Given the description of an element on the screen output the (x, y) to click on. 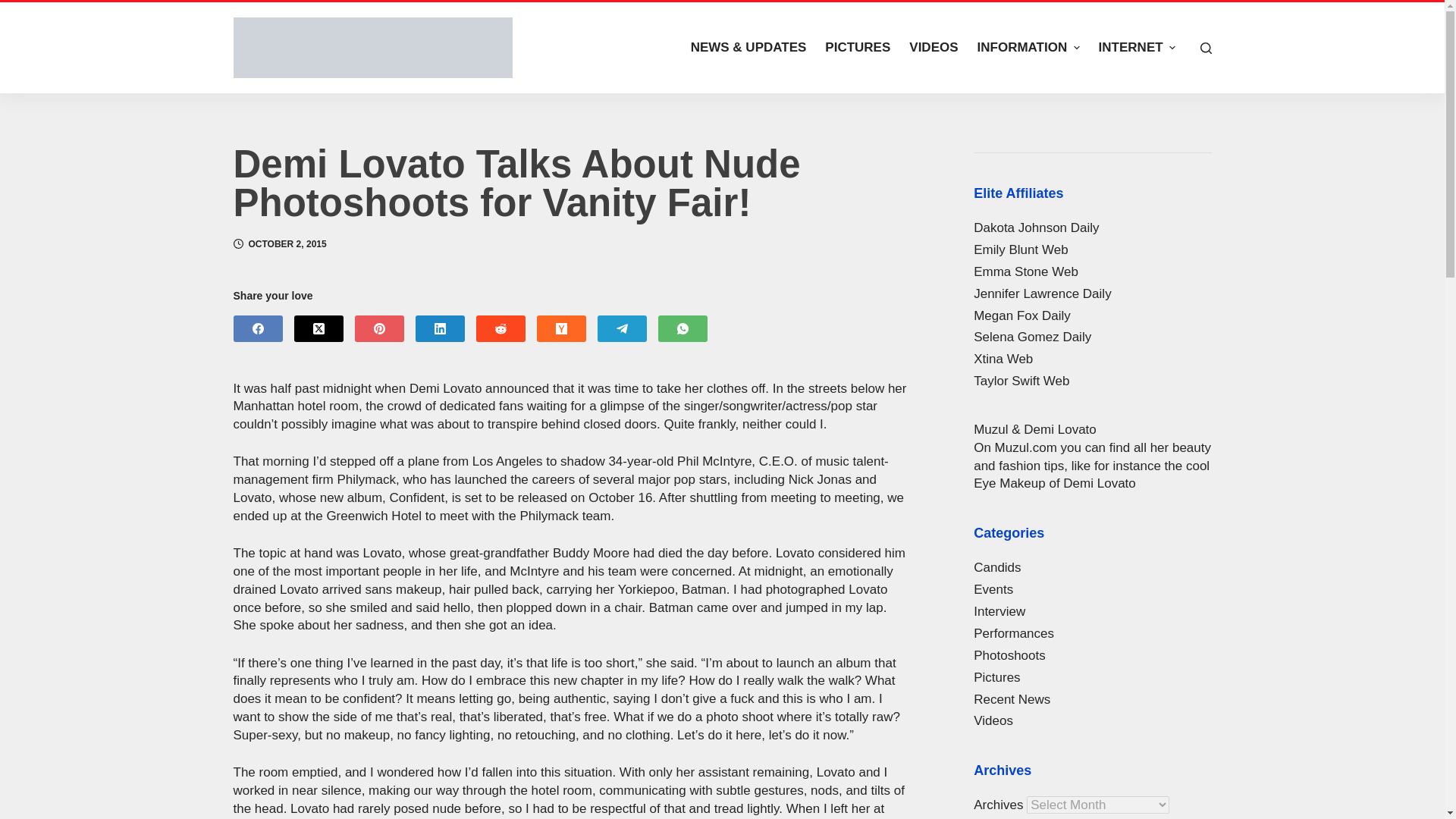
PICTURES (857, 47)
Demi Lovato Talks About Nude Photoshoots for Vanity Fair! (570, 182)
INTERNET (1137, 47)
INFORMATION (1028, 47)
Skip to content (15, 7)
